Given the description of an element on the screen output the (x, y) to click on. 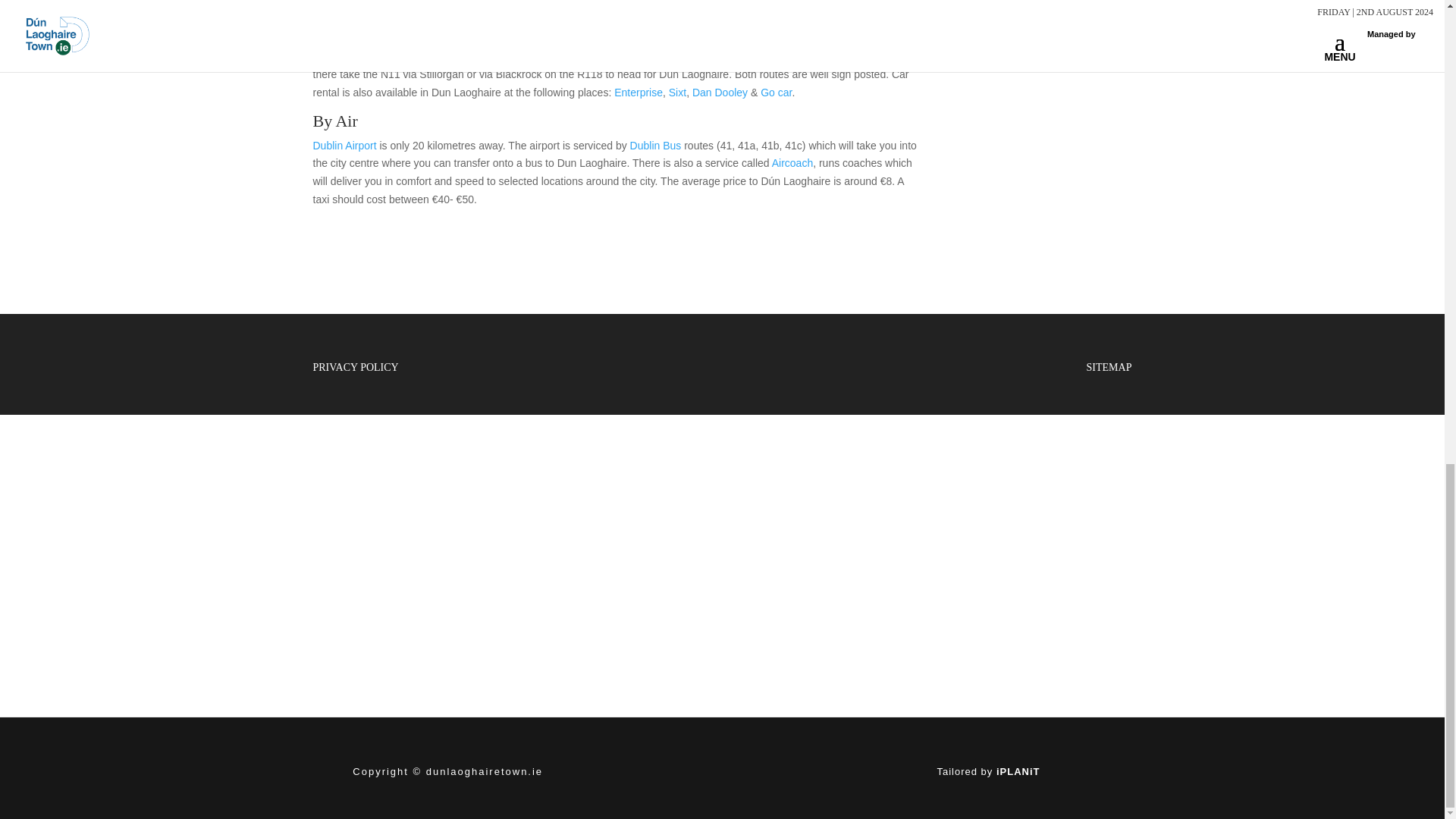
www.dublinbus.ie (657, 145)
enterprise (638, 92)
www.dublinairport.com (344, 145)
www.aircoach.ie (791, 162)
gocar (776, 92)
sixt (676, 92)
dan dooley (720, 92)
